Given the description of an element on the screen output the (x, y) to click on. 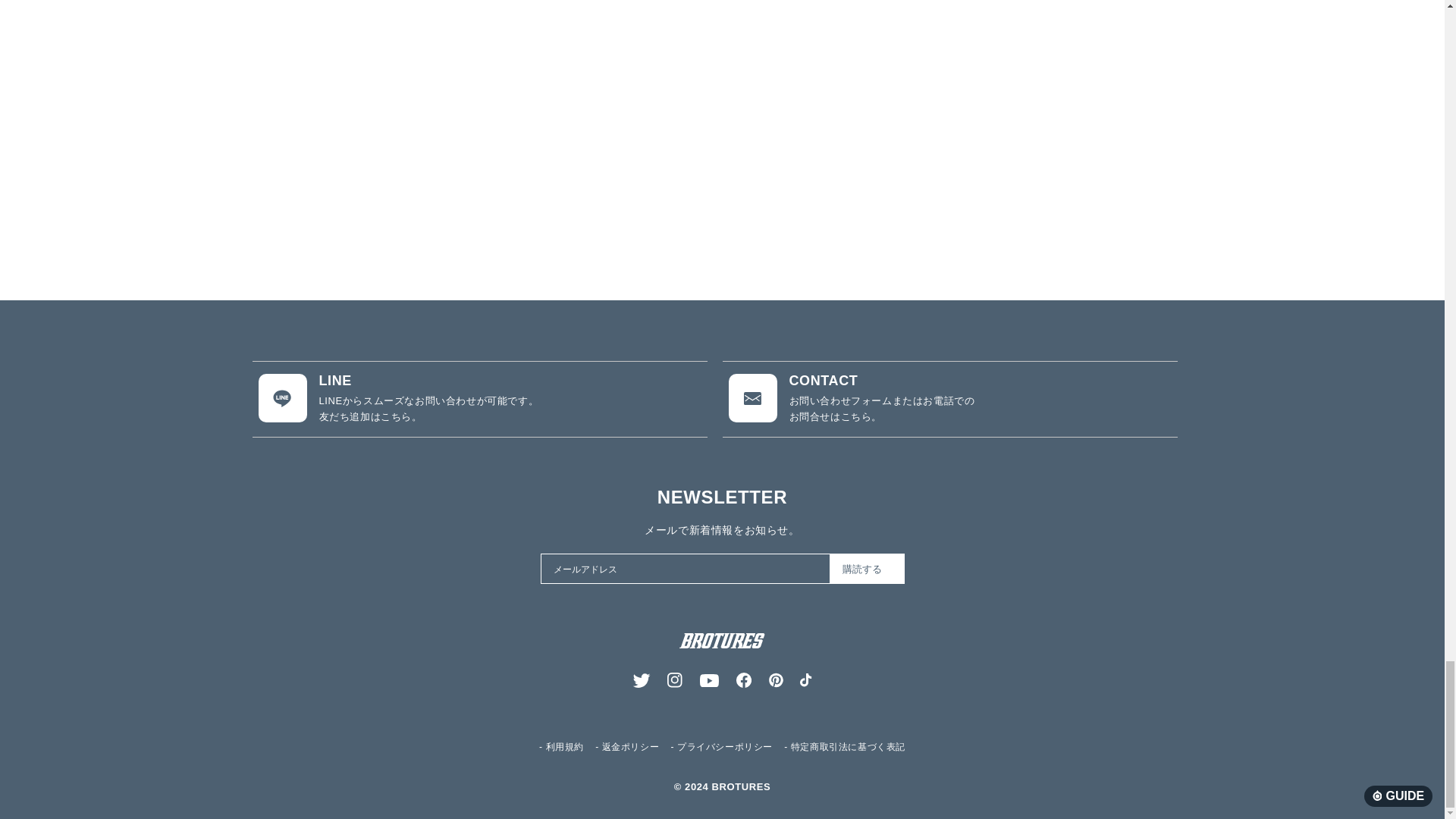
Pinterest icon (775, 679)
Youtube icon (709, 680)
Twitter icon (640, 679)
Instagram icon (674, 679)
